Given the description of an element on the screen output the (x, y) to click on. 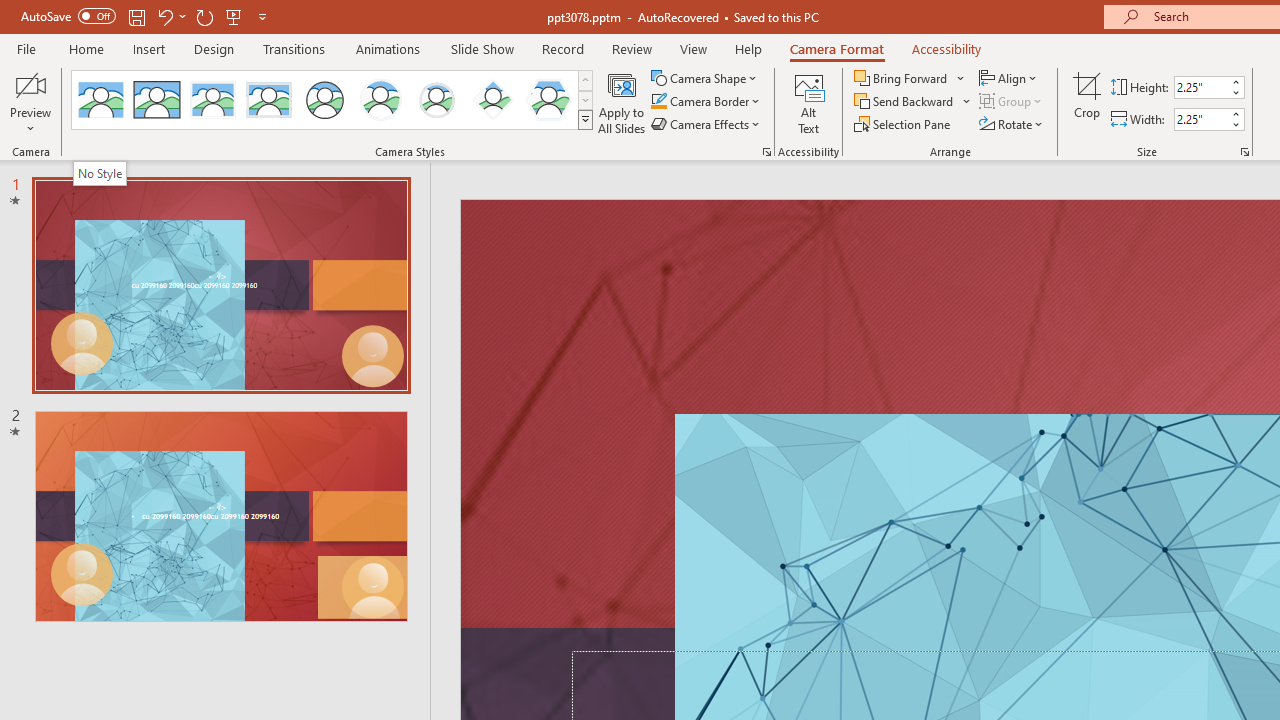
Center Shadow Diamond (492, 100)
Rotate (1012, 124)
Camera Effects (706, 124)
Align (1009, 78)
